Given the description of an element on the screen output the (x, y) to click on. 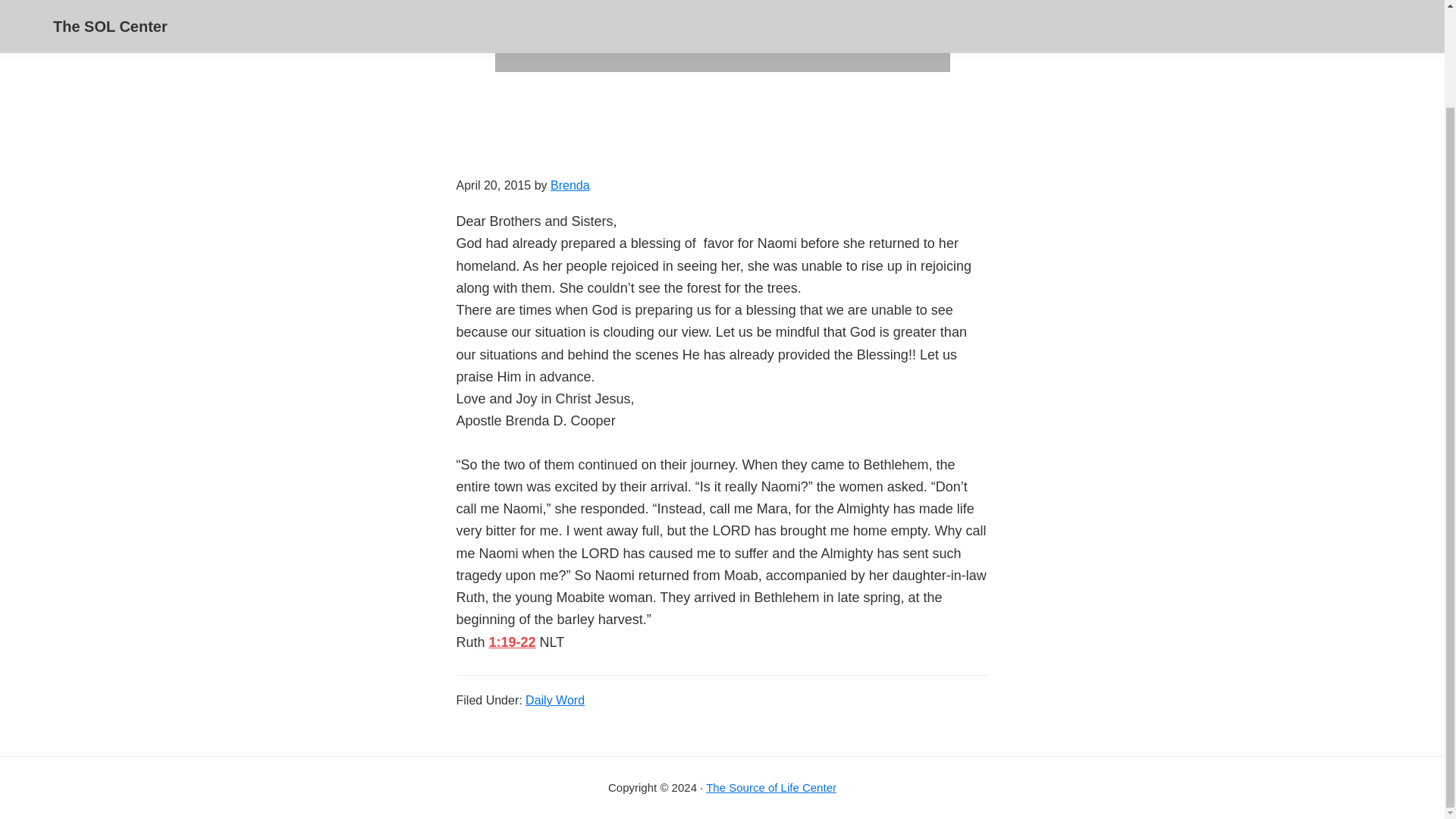
Brenda (569, 185)
The Source of Life Center (770, 787)
Daily Word (555, 699)
1:19-22 (512, 641)
